Given the description of an element on the screen output the (x, y) to click on. 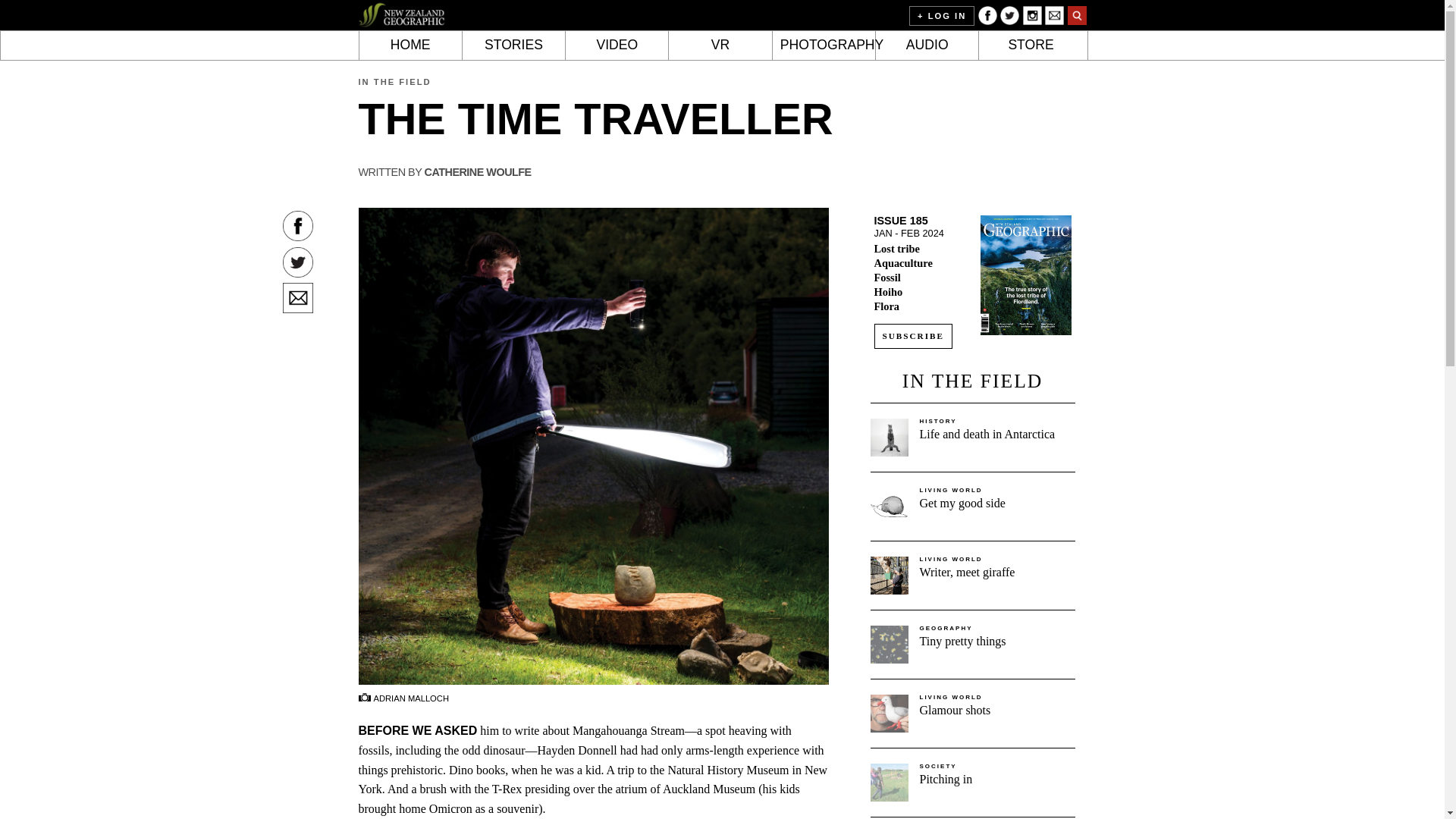
VIDEO (617, 45)
LIVING WORLD (949, 489)
CATHERINE WOULFE (477, 172)
PHOTOGRAPHY (823, 45)
STORE (1030, 45)
Life and death in Antarctica (986, 433)
HOME (410, 45)
STORIES (513, 45)
AUDIO (927, 45)
Posts by Catherine Woulfe (477, 172)
IN THE FIELD (394, 81)
Get my good side (961, 502)
HISTORY (937, 421)
VR (719, 45)
ISSUE 185 (900, 220)
